Given the description of an element on the screen output the (x, y) to click on. 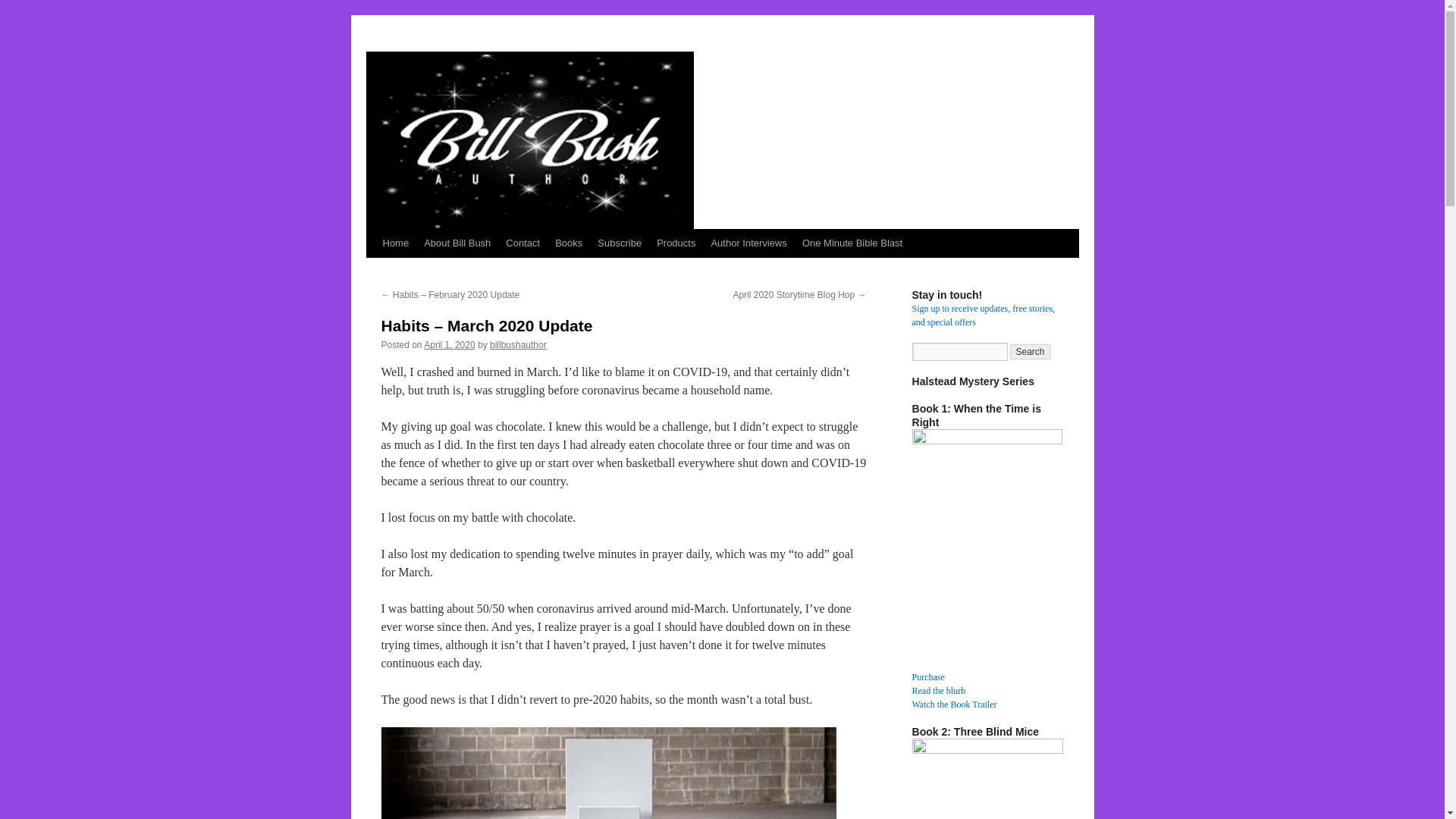
billbushauthor (518, 344)
Purchase (927, 676)
Subscribe (619, 243)
Home (395, 243)
Sign up to receive updates, free stories, and special offers (982, 315)
April 1, 2020 (448, 344)
About Bill Bush (456, 243)
Read the blurb (938, 690)
Books (568, 243)
View all posts by billbushauthor (518, 344)
